Given the description of an element on the screen output the (x, y) to click on. 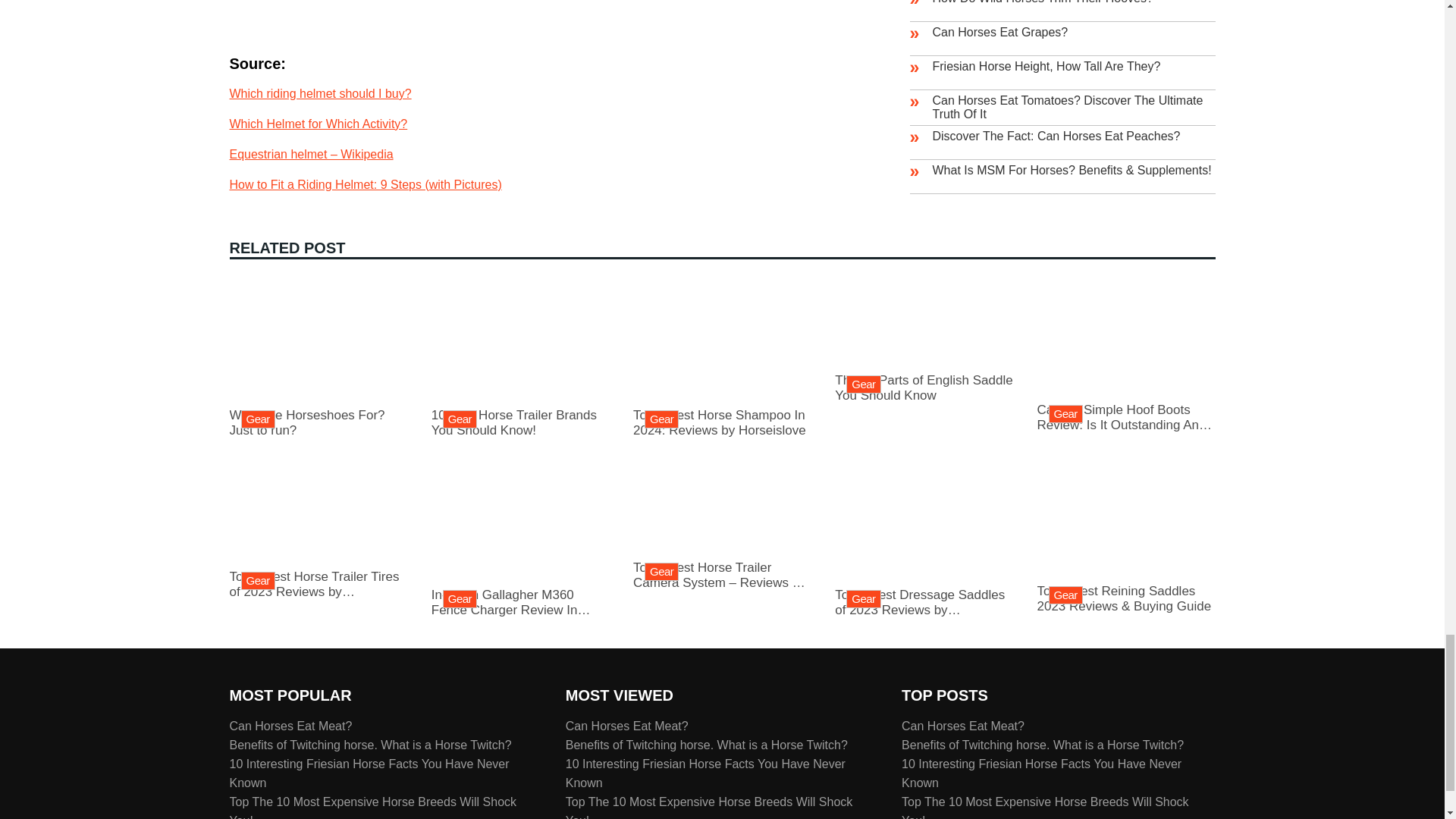
Permanent Link to What Are Horseshoes For? Just to run? (317, 414)
10 Interesting Friesian Horse Facts You Have Never Known (368, 772)
Which riding helmet should I buy? (319, 92)
